Given the description of an element on the screen output the (x, y) to click on. 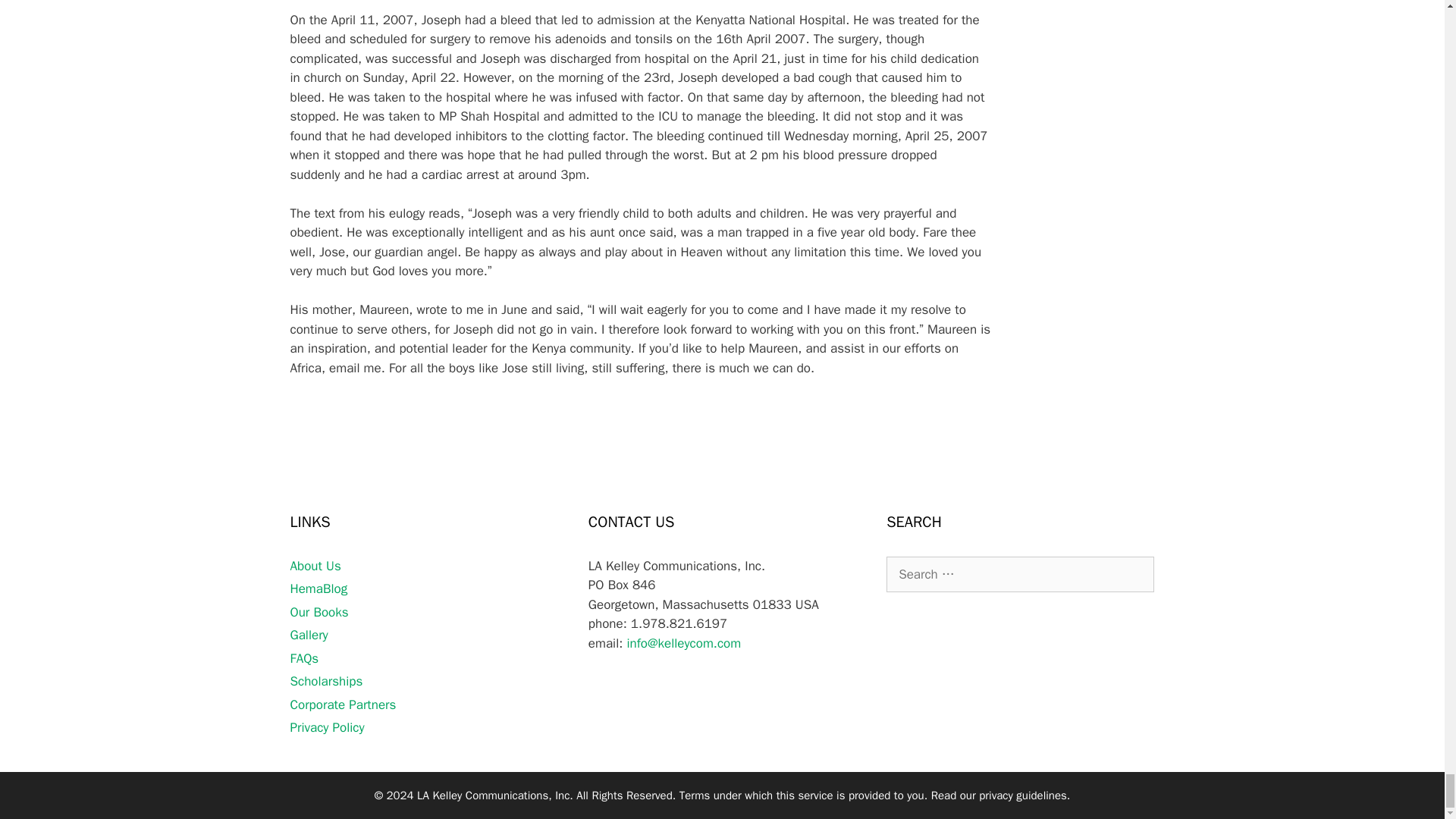
Search for: (1020, 574)
